Given the description of an element on the screen output the (x, y) to click on. 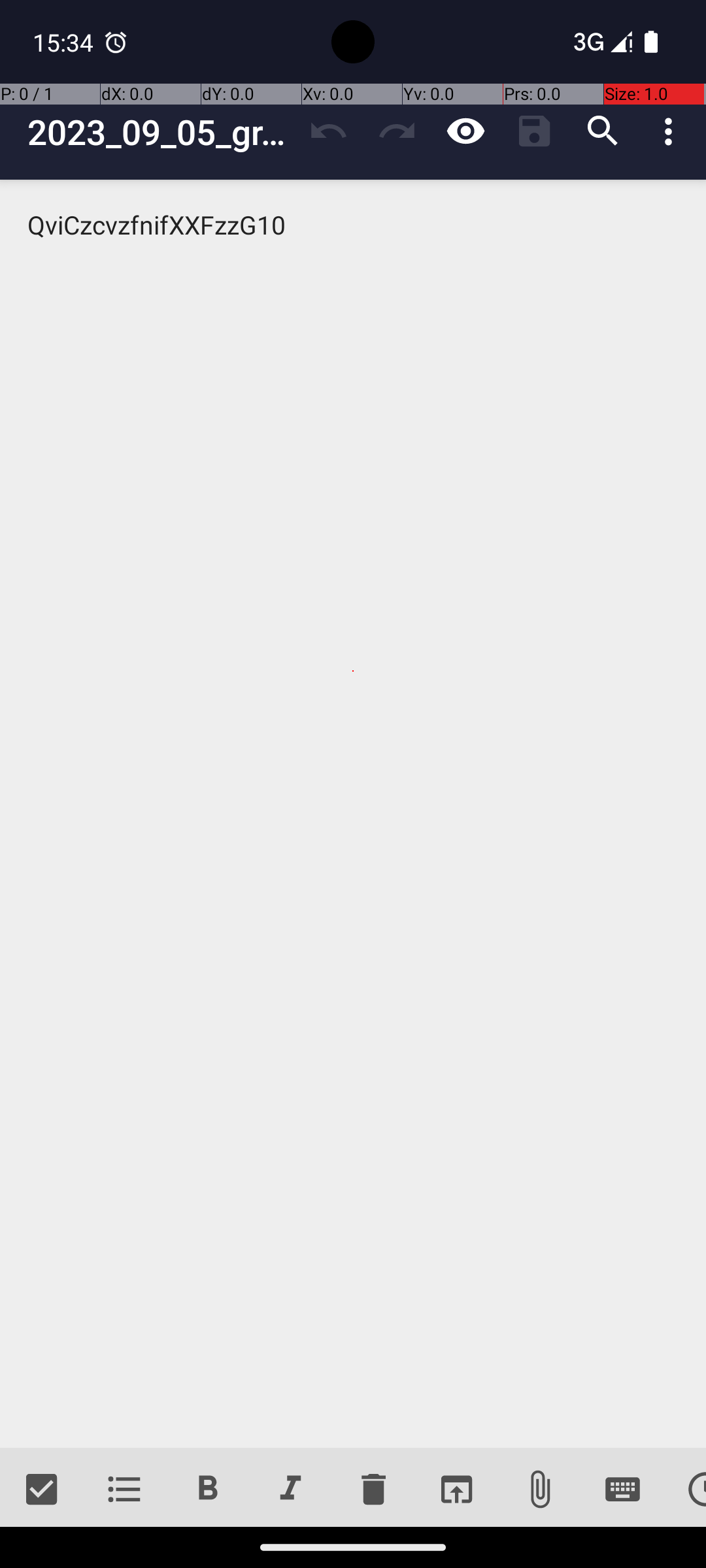
2023_09_05_grocery_list_weekly Element type: android.widget.TextView (160, 131)
QviCzcvzfnifXXFzzG10
 Element type: android.widget.EditText (353, 813)
